Given the description of an element on the screen output the (x, y) to click on. 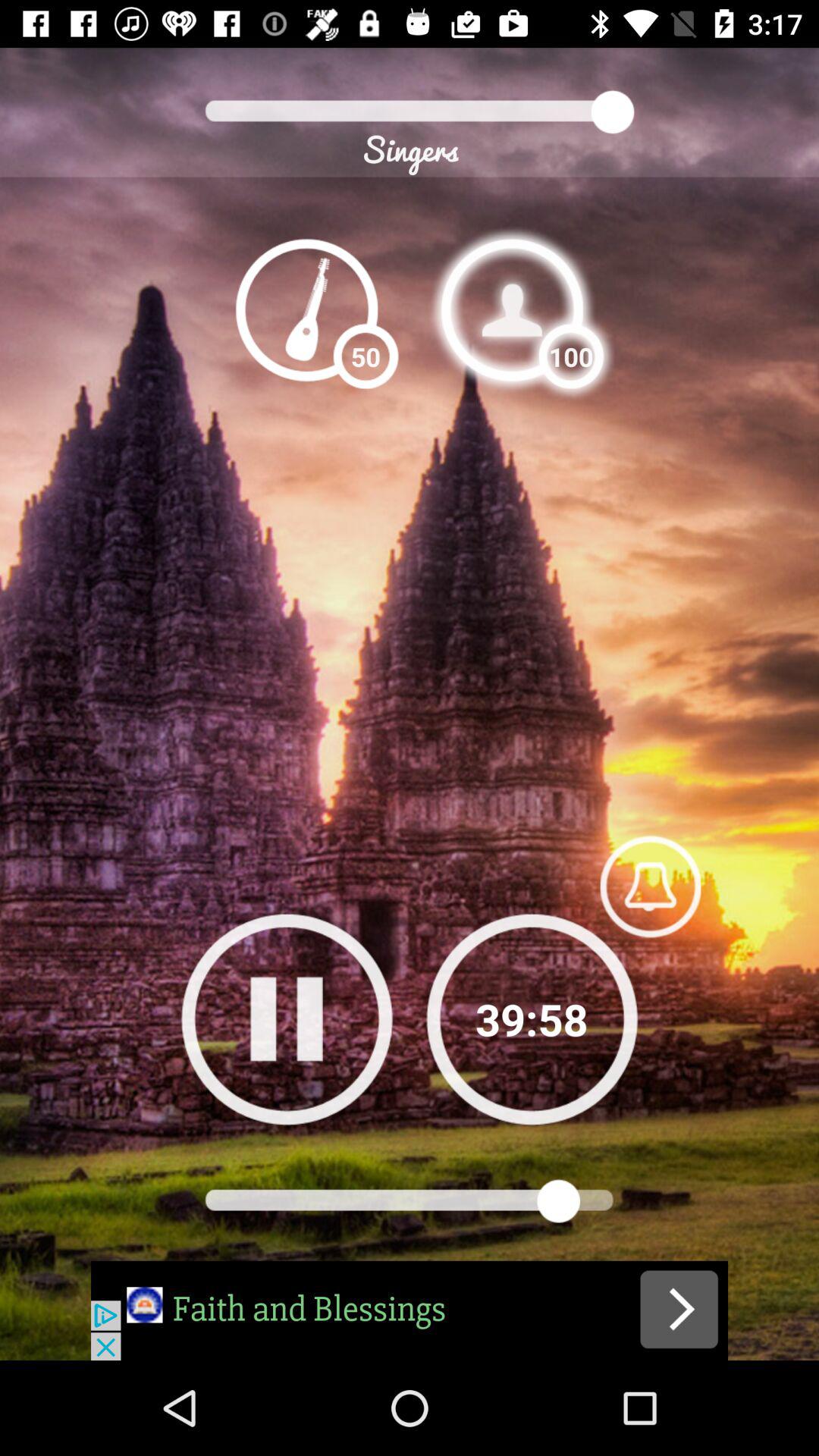
press the icon on the right (649, 885)
